Given the description of an element on the screen output the (x, y) to click on. 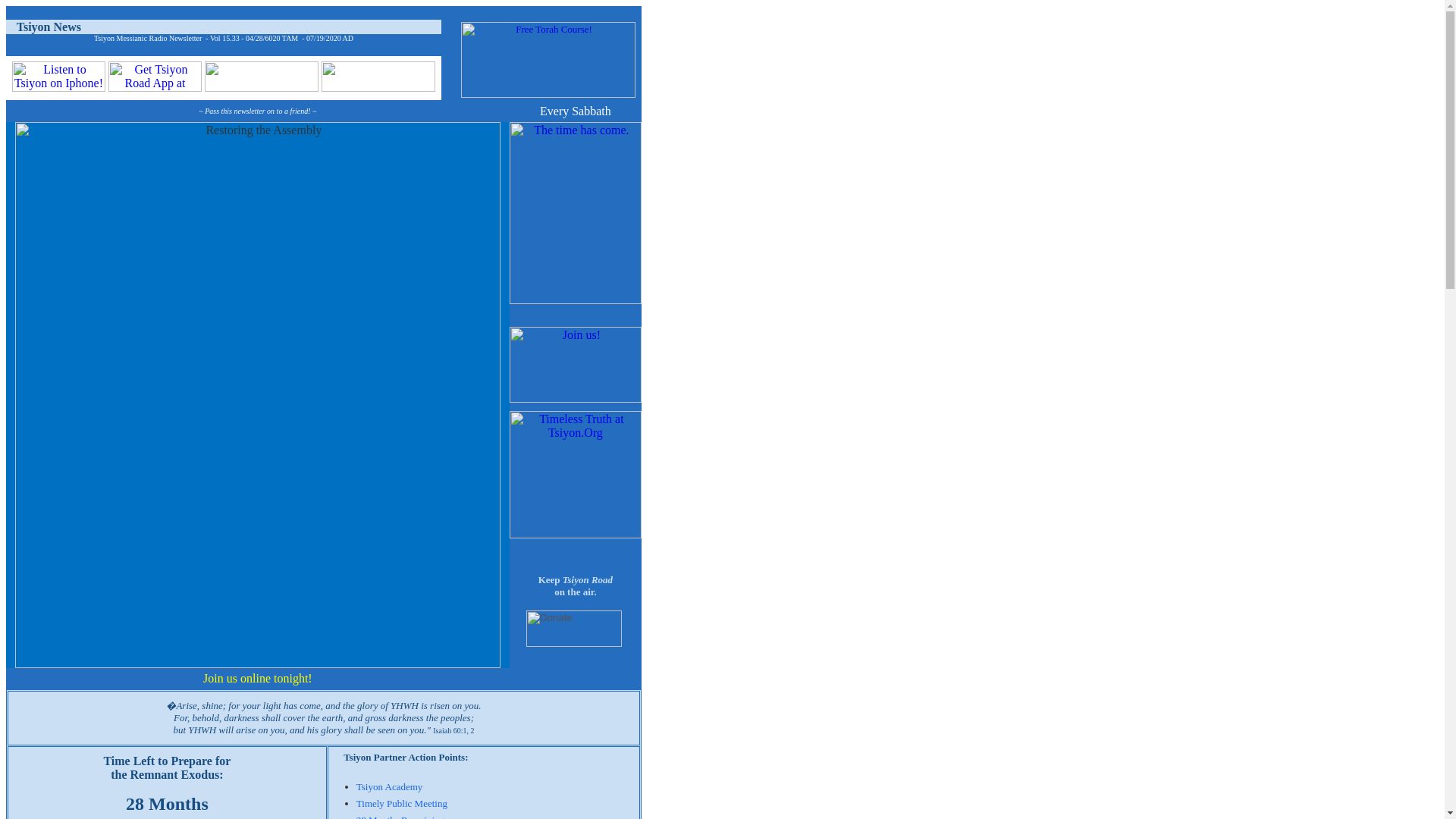
Tsiyon Academy (389, 786)
28 Months Remaining (400, 816)
Timely Public Meeting (401, 803)
